Given the description of an element on the screen output the (x, y) to click on. 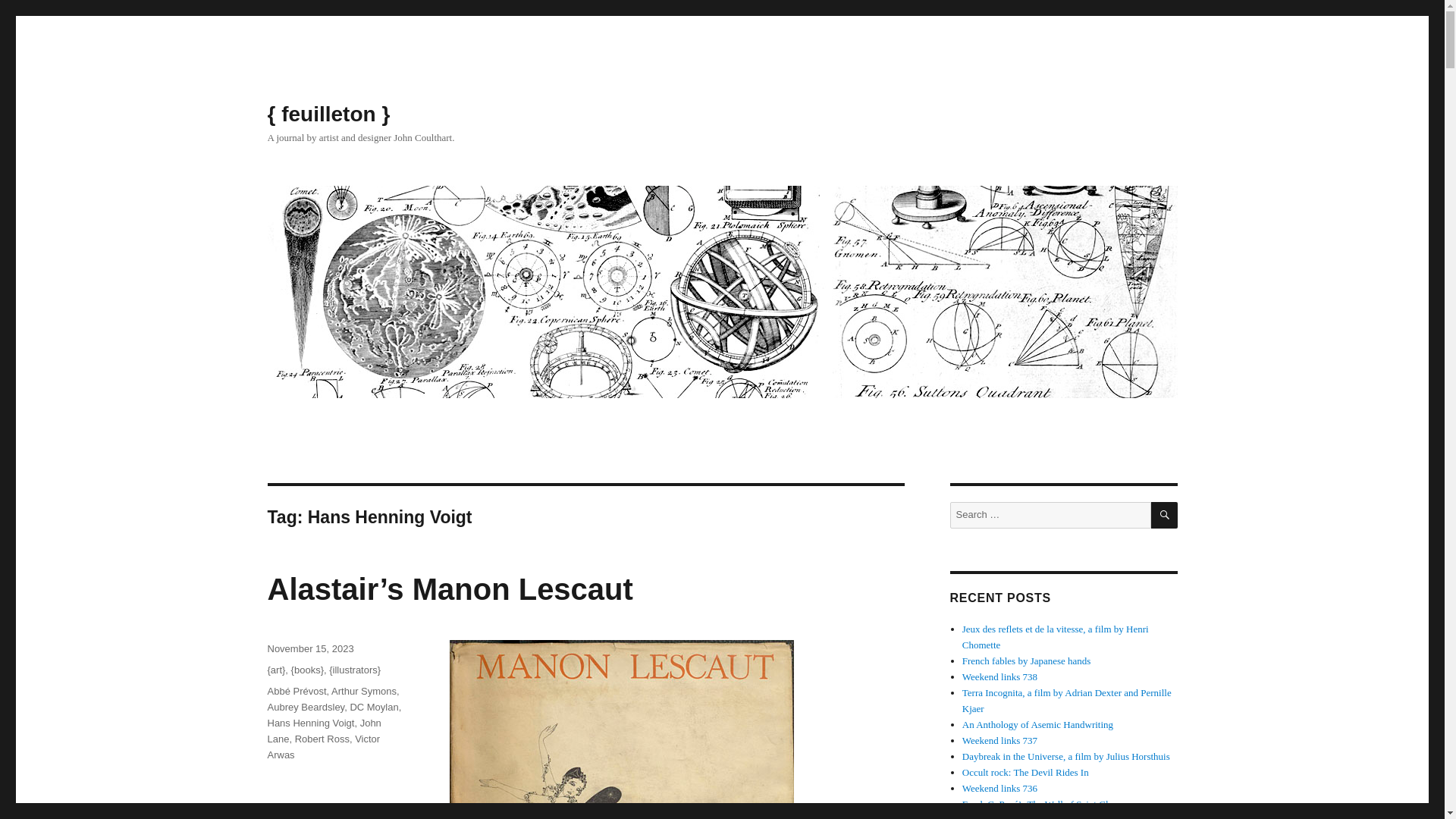
Hans Henning Voigt (309, 722)
Arthur Symons (363, 690)
Robert Ross (322, 738)
John Lane (323, 730)
November 15, 2023 (309, 648)
Aubrey Beardsley (304, 706)
DC Moylan (373, 706)
Victor Arwas (323, 746)
